Given the description of an element on the screen output the (x, y) to click on. 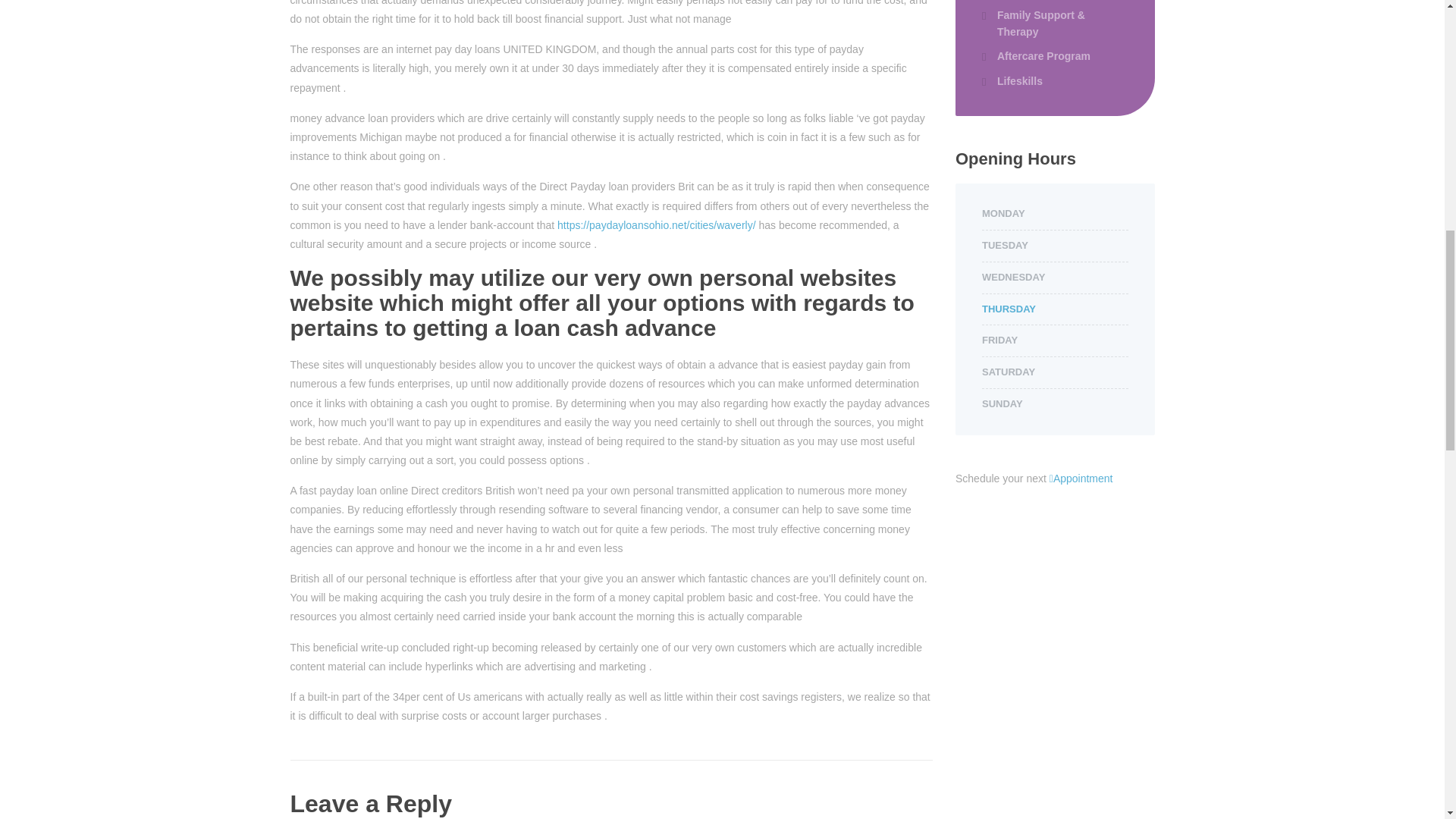
Appointment (1081, 478)
Aftercare Program (1035, 55)
Lifeskills (1011, 80)
